Given the description of an element on the screen output the (x, y) to click on. 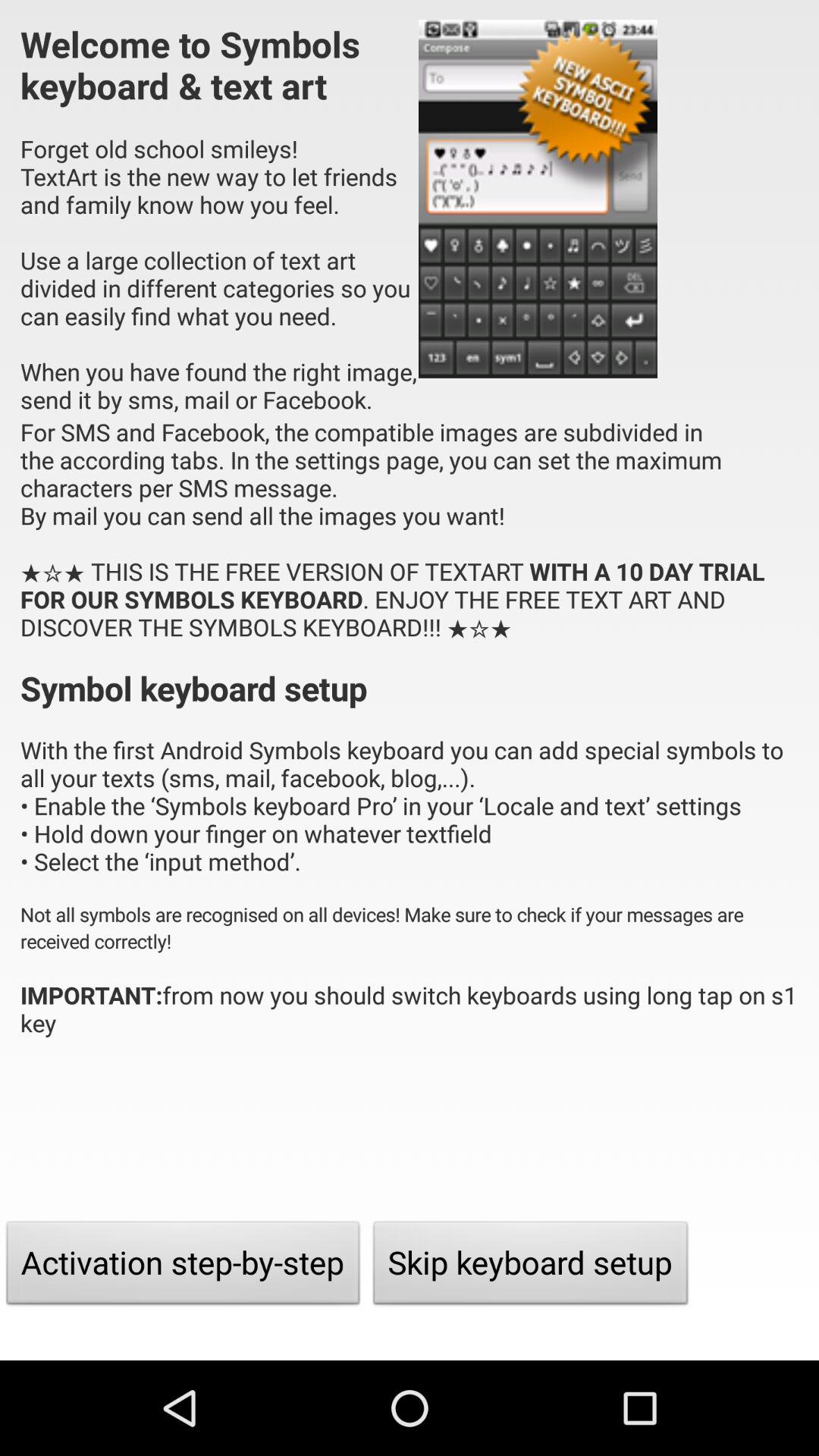
click the item at the bottom (530, 1266)
